Given the description of an element on the screen output the (x, y) to click on. 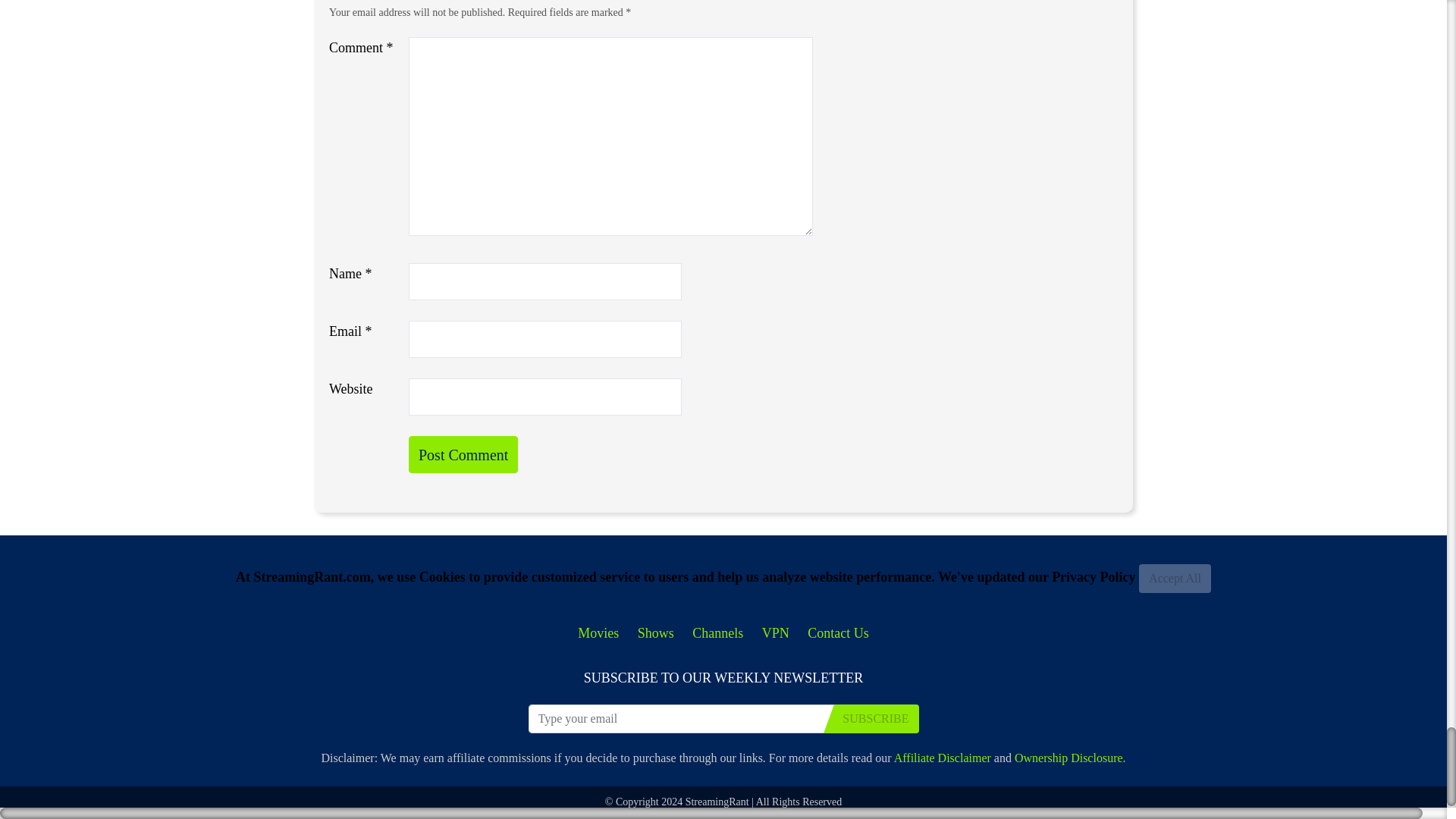
Post Comment (463, 454)
